Given the description of an element on the screen output the (x, y) to click on. 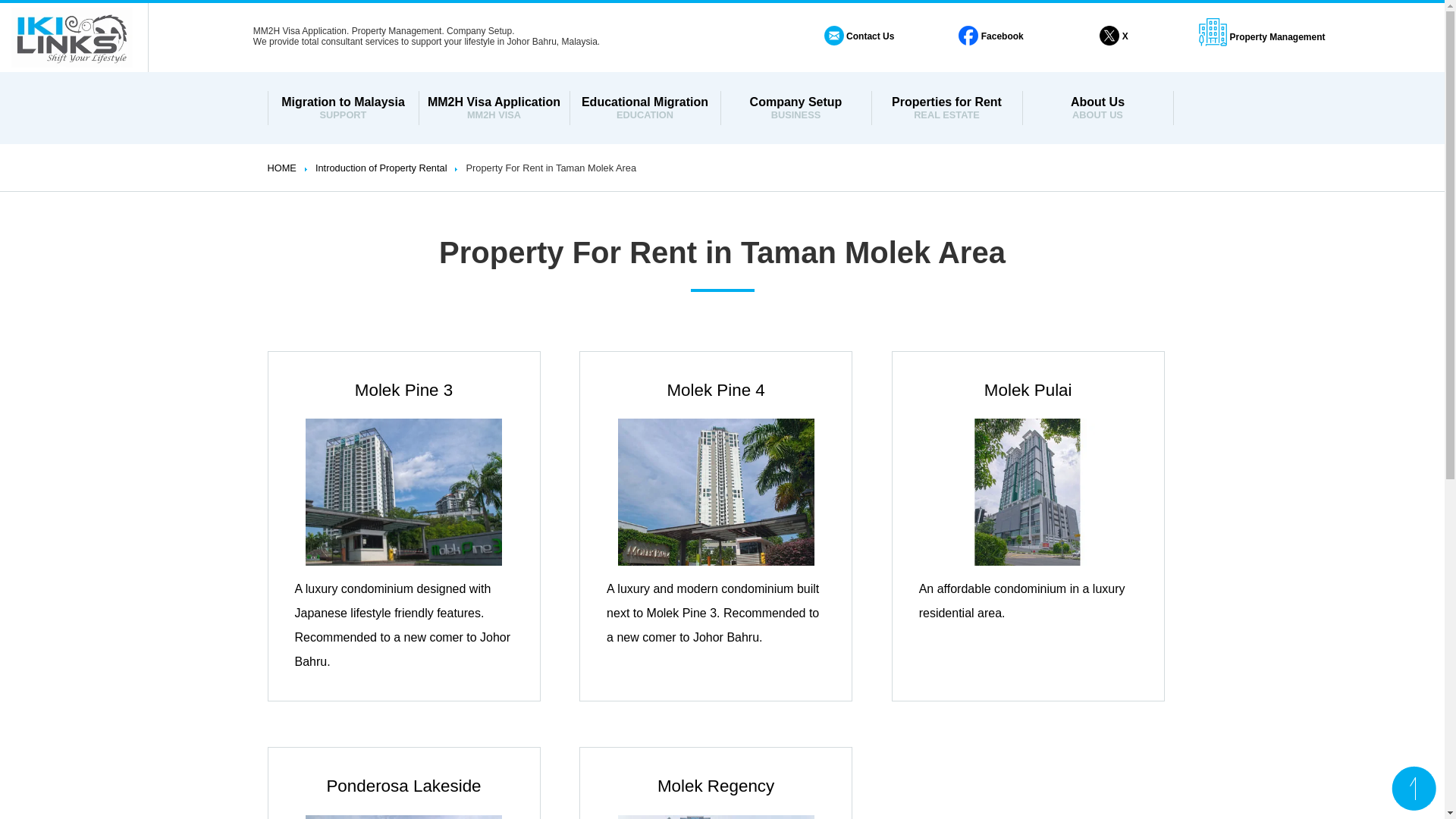
HOME (494, 108)
Properties for Rent (284, 167)
Property Management (947, 108)
Company Setup (795, 108)
Educational Migration (1261, 36)
MM2H Visa Application (1097, 108)
Introduction of Property Rental (947, 108)
Property Management (795, 108)
Moving to Malaysia (645, 108)
